Given the description of an element on the screen output the (x, y) to click on. 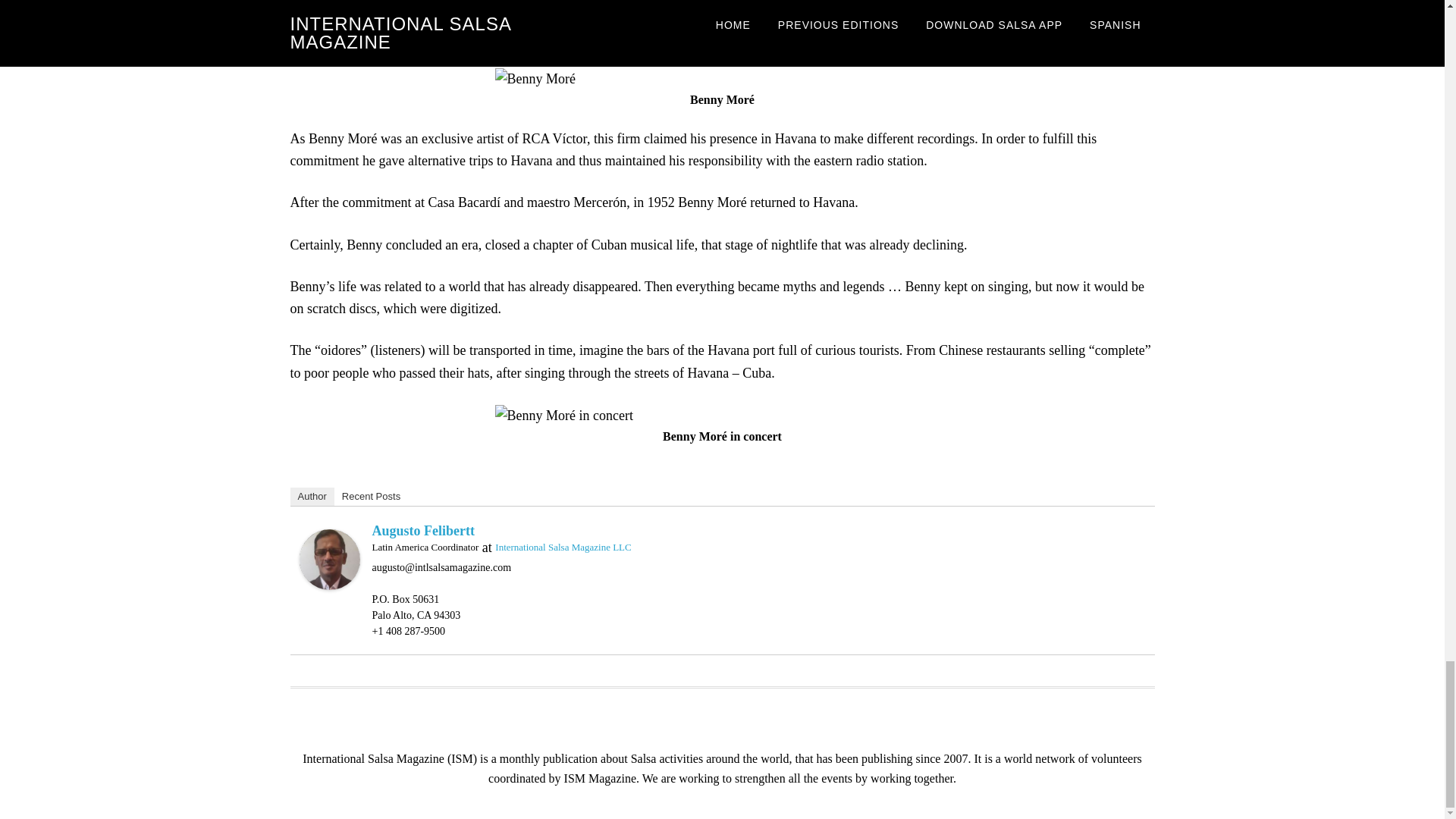
Augusto Felibertt (328, 557)
